Given the description of an element on the screen output the (x, y) to click on. 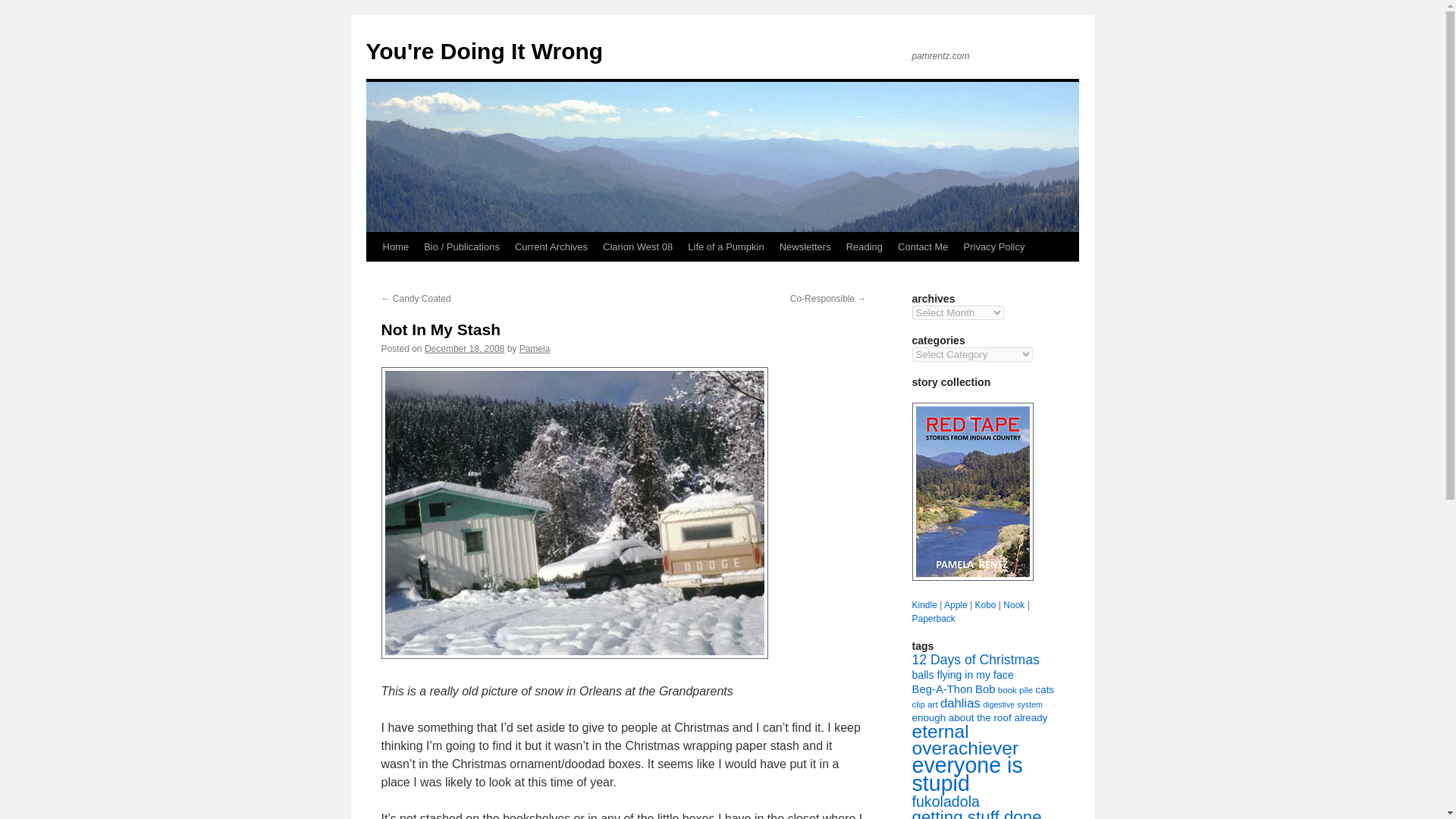
Clarion West 08 (637, 246)
Privacy Policy (994, 246)
getting stuff done (976, 813)
dahlias (959, 703)
balls flying in my face (962, 674)
enough about the roof already (978, 717)
December 18, 2008 (464, 348)
Contact Me (922, 246)
eternal overachiever (964, 739)
everyone is stupid (966, 773)
Life of a Pumpkin (725, 246)
Kindle (923, 604)
3:51 am (464, 348)
Beg-A-Thon (941, 689)
View all posts by Pamela (534, 348)
